Given the description of an element on the screen output the (x, y) to click on. 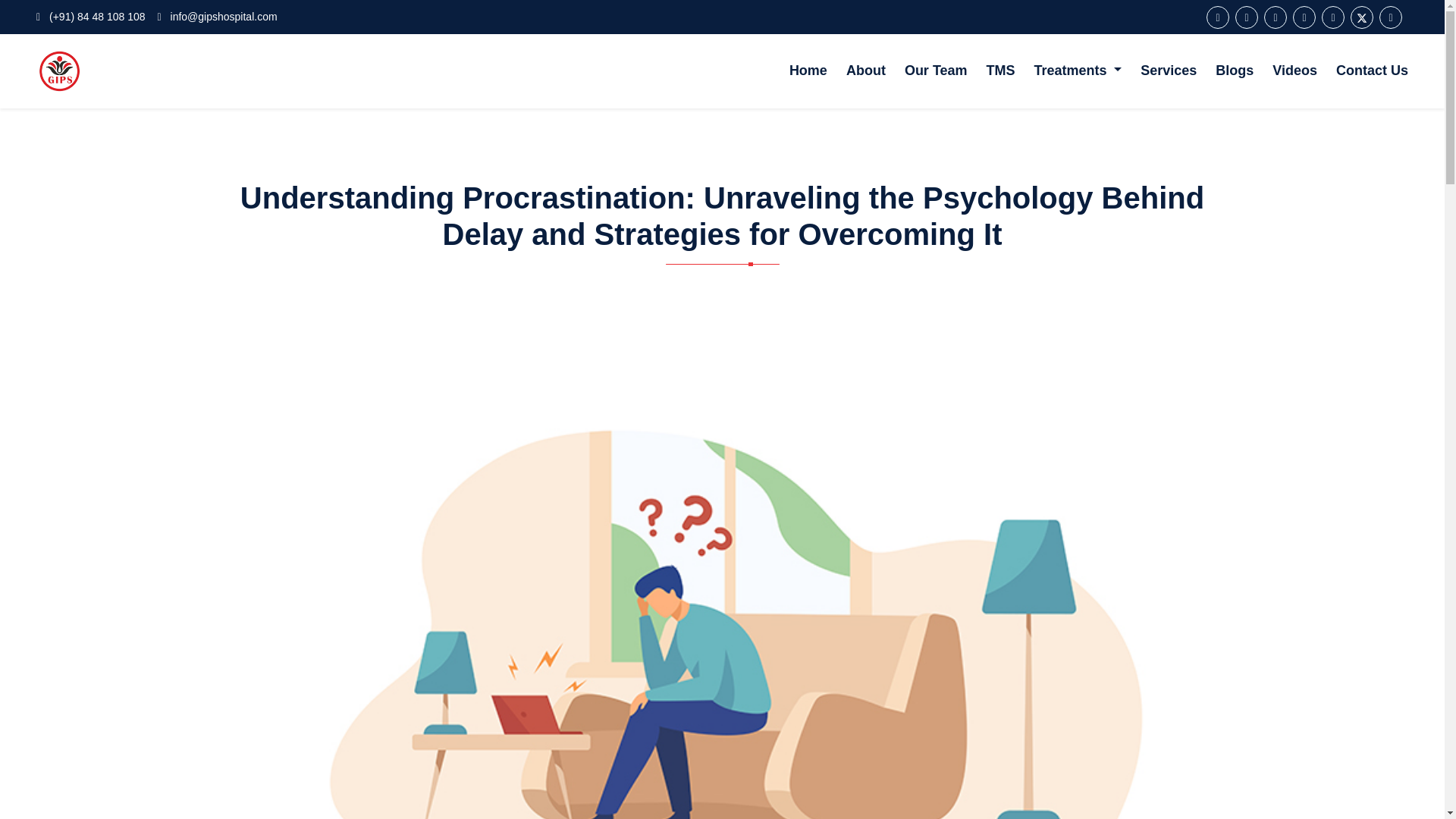
Treatments (1077, 70)
Contact Us (1371, 70)
